Given the description of an element on the screen output the (x, y) to click on. 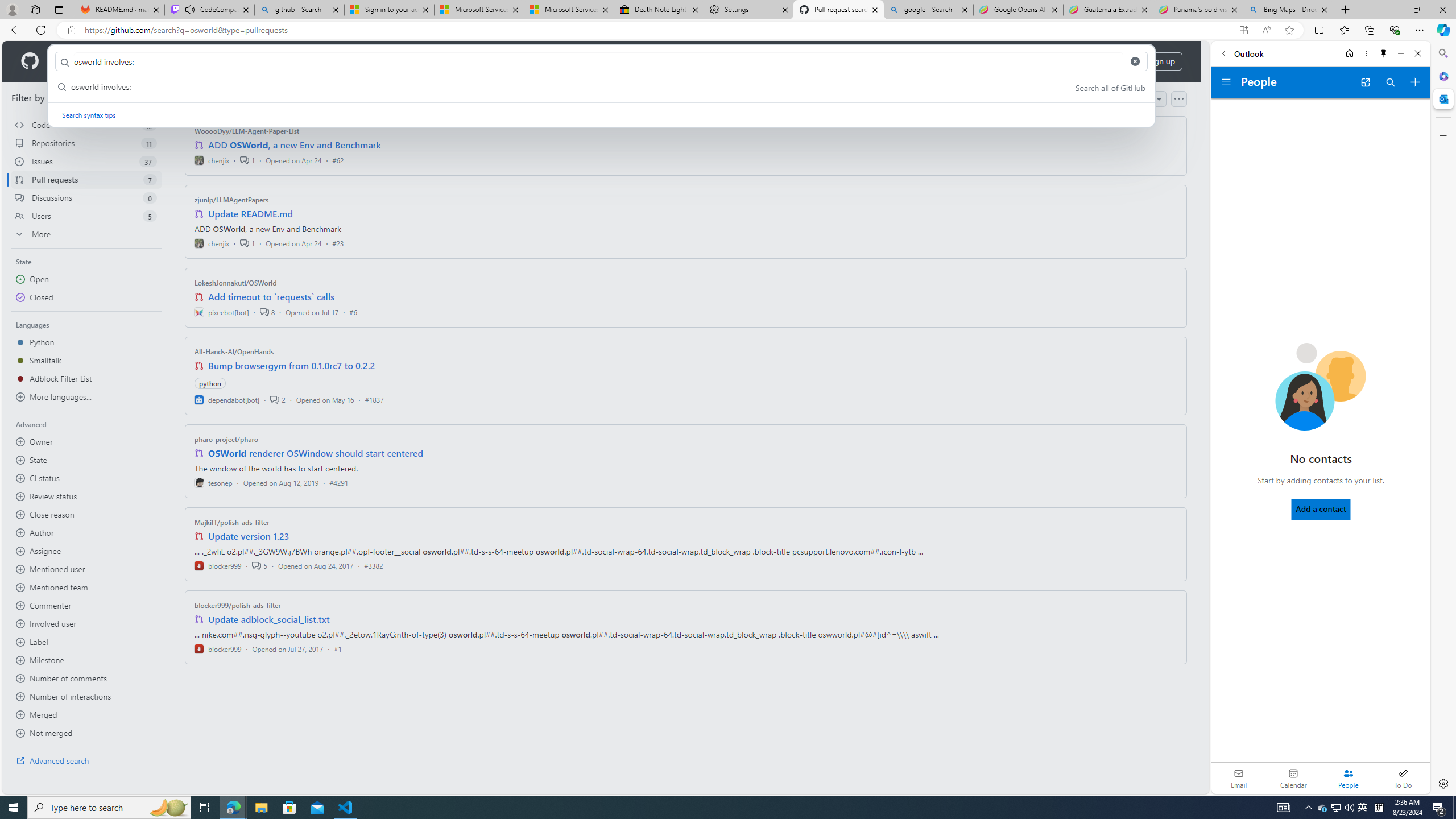
All-Hands-AI/OpenHands (234, 351)
ADD OSWorld, a new Env and Benchmark (294, 144)
LokeshJonnakuti/OSWorld (235, 282)
Solutions (128, 60)
Calendar. Date today is 22 (1293, 777)
chenjix (211, 242)
#3382 (373, 565)
Product (74, 60)
Sign in to your account (389, 9)
Update adblock_social_list.txt (269, 619)
